Given the description of an element on the screen output the (x, y) to click on. 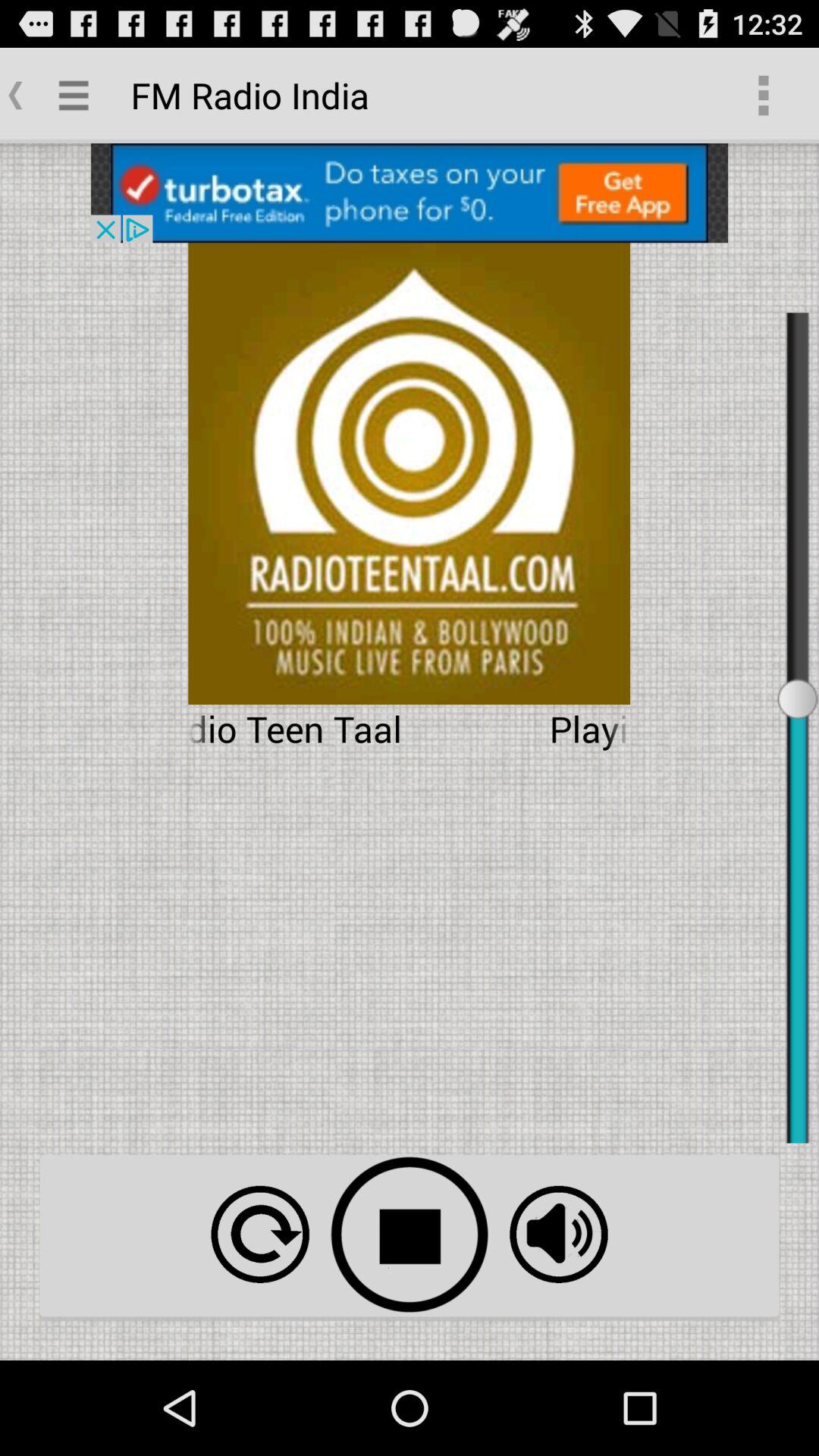
rotate the page (259, 1234)
